Given the description of an element on the screen output the (x, y) to click on. 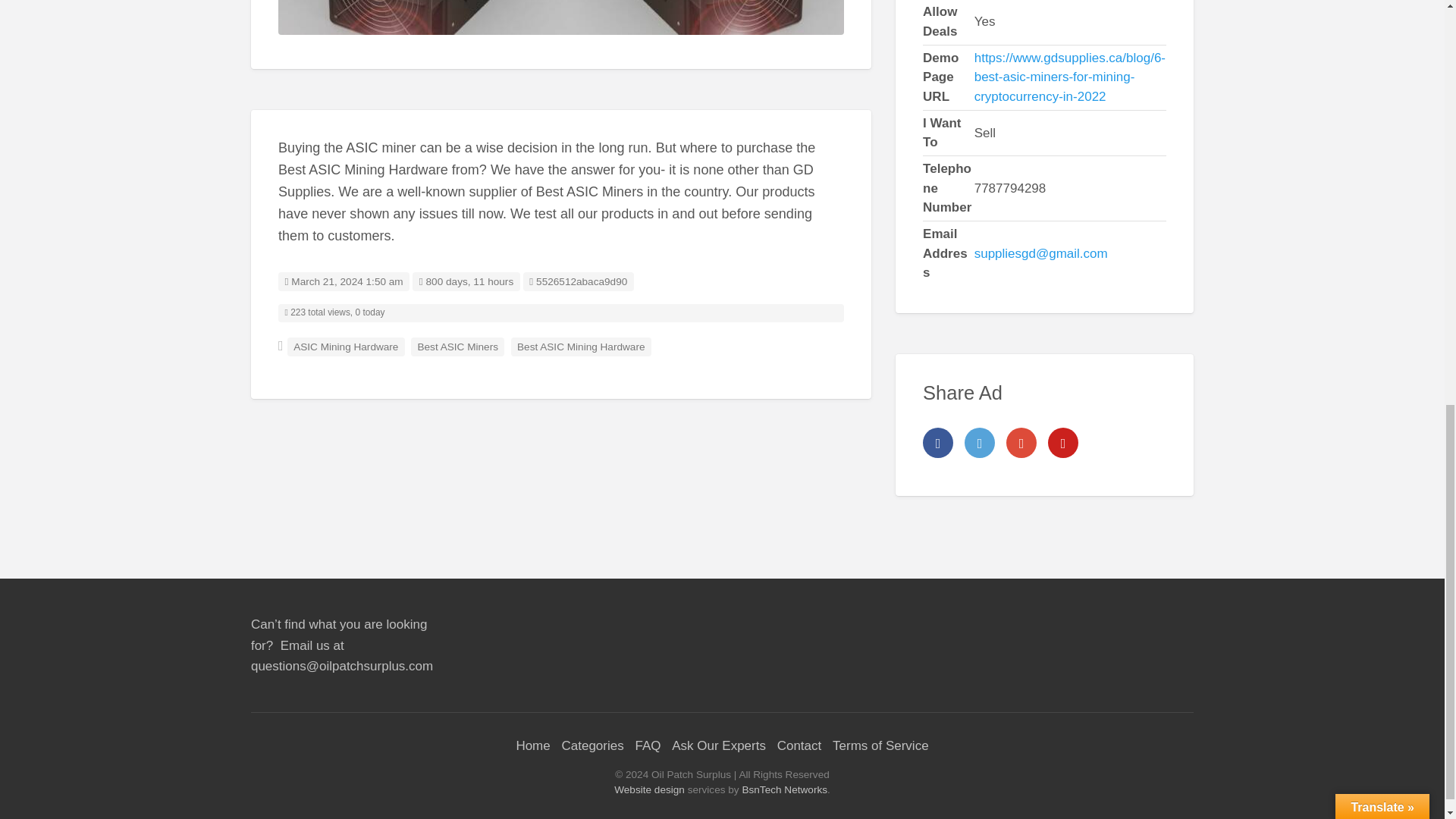
Listing ID (577, 281)
ASIC Mining Hardware (561, 17)
